Given the description of an element on the screen output the (x, y) to click on. 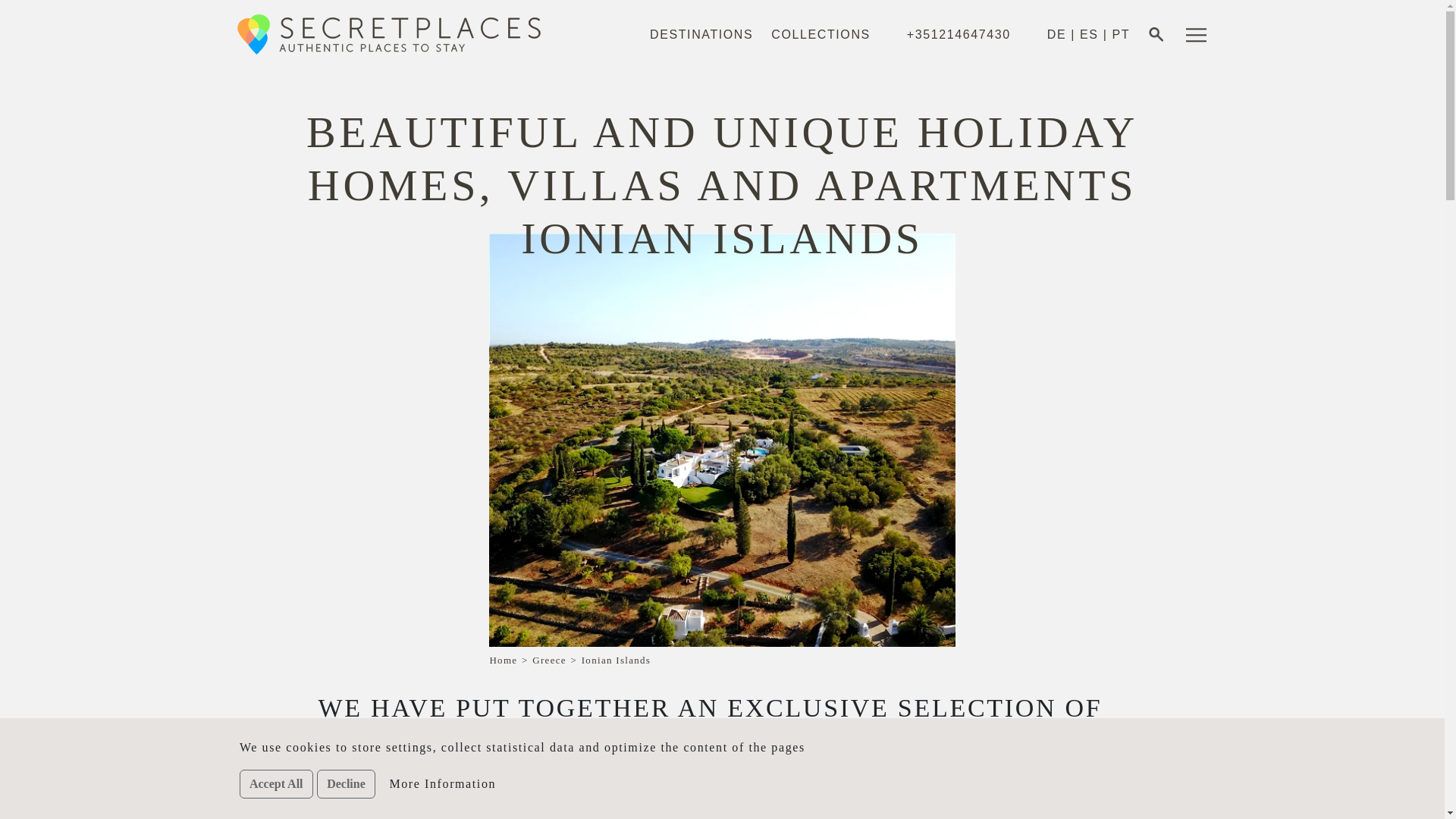
ES (1089, 34)
PT (1120, 34)
Secretplaces (398, 34)
DE (1055, 34)
DESTINATIONS (700, 34)
COLLECTIONS (820, 34)
